Given the description of an element on the screen output the (x, y) to click on. 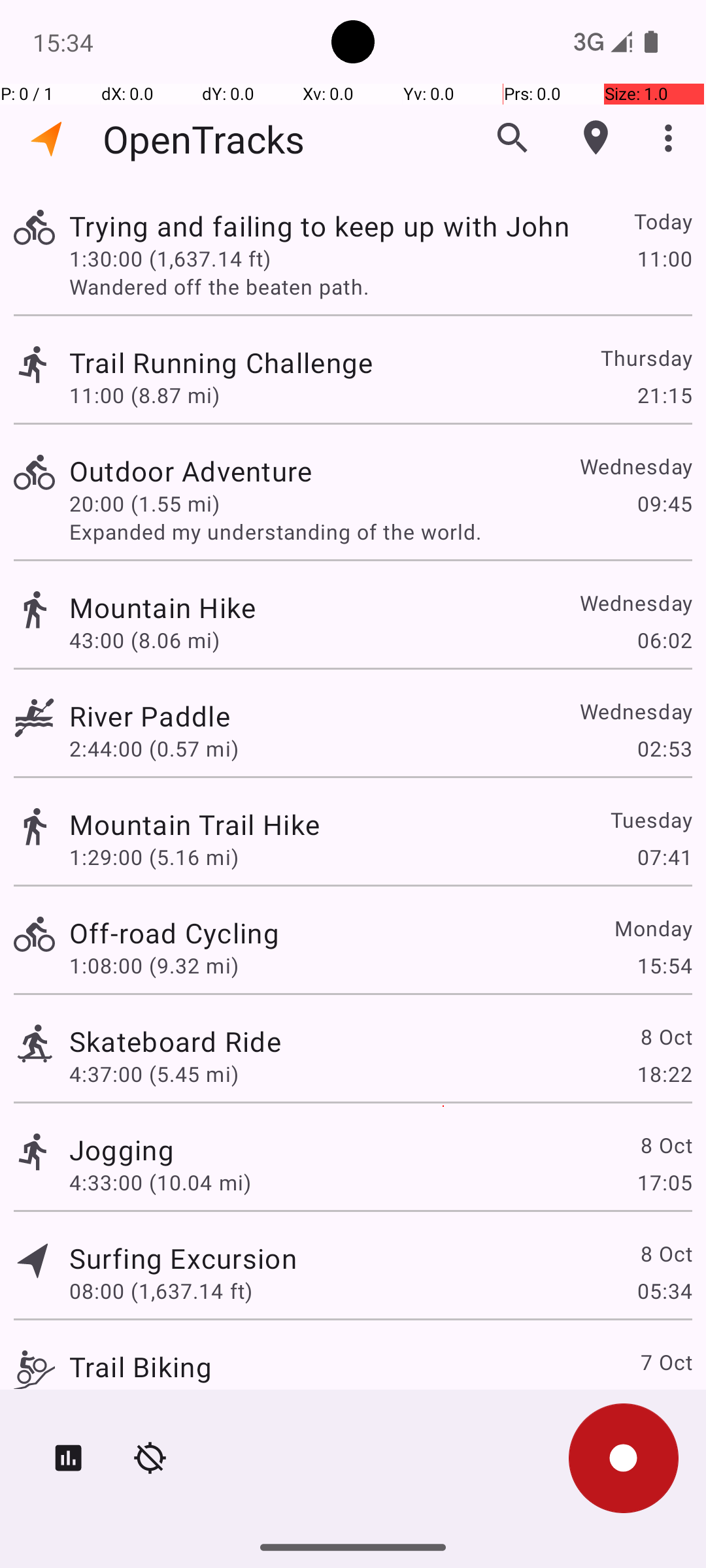
Trying and failing to keep up with John Element type: android.widget.TextView (319, 225)
1:30:00 (1,637.14 ft) Element type: android.widget.TextView (169, 258)
11:00 Element type: android.widget.TextView (664, 258)
Wandered off the beaten path. Element type: android.widget.TextView (380, 286)
Trail Running Challenge Element type: android.widget.TextView (220, 361)
11:00 (8.87 mi) Element type: android.widget.TextView (144, 394)
21:15 Element type: android.widget.TextView (664, 394)
Outdoor Adventure Element type: android.widget.TextView (190, 470)
20:00 (1.55 mi) Element type: android.widget.TextView (144, 503)
09:45 Element type: android.widget.TextView (664, 503)
Expanded my understanding of the world. Element type: android.widget.TextView (380, 531)
Mountain Hike Element type: android.widget.TextView (162, 606)
43:00 (8.06 mi) Element type: android.widget.TextView (144, 639)
06:02 Element type: android.widget.TextView (664, 639)
River Paddle Element type: android.widget.TextView (149, 715)
2:44:00 (0.57 mi) Element type: android.widget.TextView (153, 748)
02:53 Element type: android.widget.TextView (664, 748)
Mountain Trail Hike Element type: android.widget.TextView (194, 823)
1:29:00 (5.16 mi) Element type: android.widget.TextView (153, 856)
07:41 Element type: android.widget.TextView (664, 856)
Off-road Cycling Element type: android.widget.TextView (173, 932)
1:08:00 (9.32 mi) Element type: android.widget.TextView (153, 965)
15:54 Element type: android.widget.TextView (664, 965)
Skateboard Ride Element type: android.widget.TextView (174, 1040)
8 Oct Element type: android.widget.TextView (665, 1036)
4:37:00 (5.45 mi) Element type: android.widget.TextView (153, 1073)
18:22 Element type: android.widget.TextView (664, 1073)
Jogging Element type: android.widget.TextView (121, 1149)
4:33:00 (10.04 mi) Element type: android.widget.TextView (159, 1182)
17:05 Element type: android.widget.TextView (664, 1182)
Surfing Excursion Element type: android.widget.TextView (182, 1257)
08:00 (1,637.14 ft) Element type: android.widget.TextView (160, 1290)
05:34 Element type: android.widget.TextView (664, 1290)
Trail Biking Element type: android.widget.TextView (140, 1366)
7 Oct Element type: android.widget.TextView (665, 1361)
3:49:00 (2.34 mi) Element type: android.widget.TextView (153, 1399)
12:14 Element type: android.widget.TextView (664, 1399)
